Given the description of an element on the screen output the (x, y) to click on. 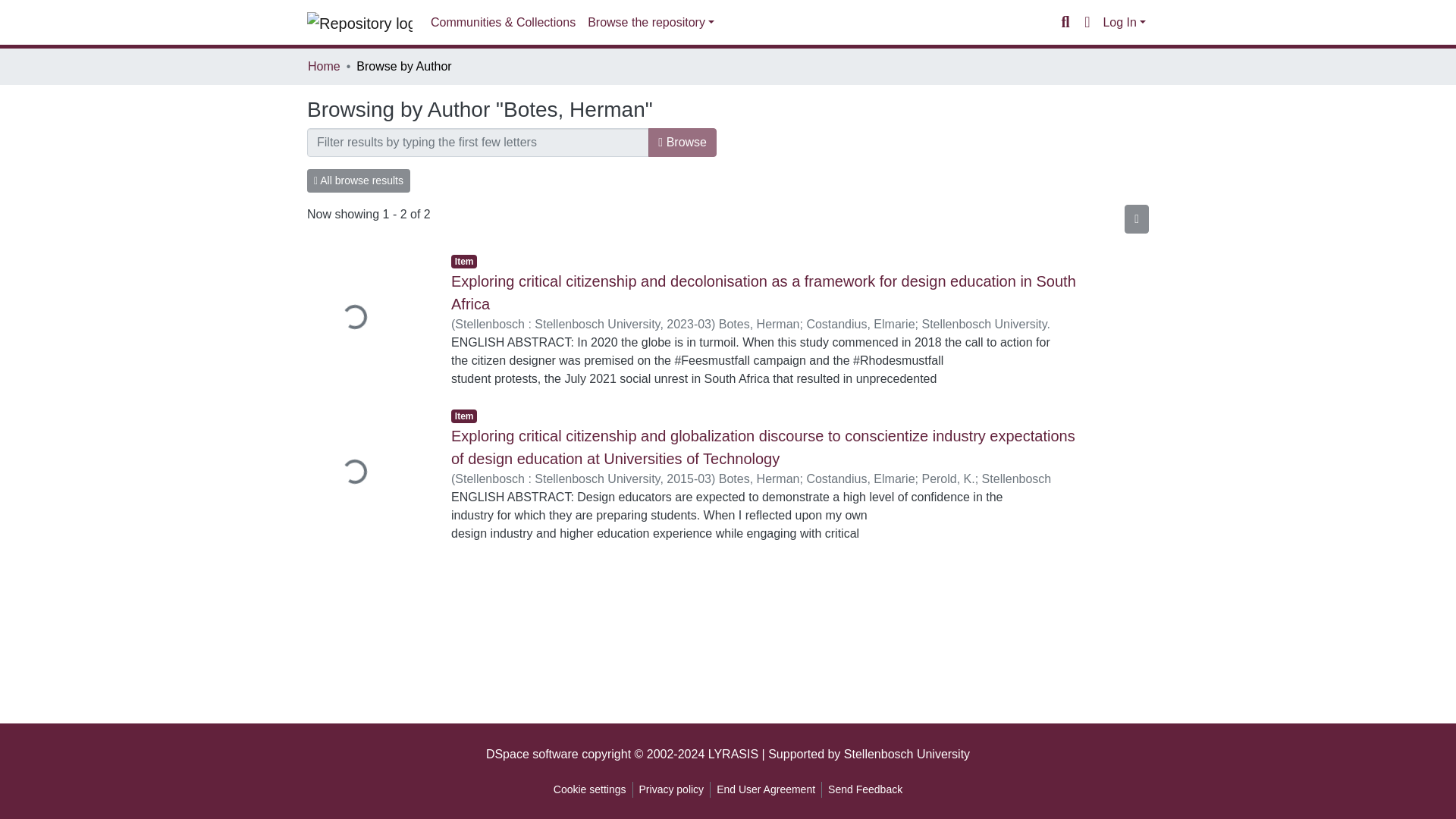
Browse the repository (650, 22)
Language switch (1086, 22)
Loading... (367, 473)
Browse (681, 142)
All browse results (358, 180)
Search (1064, 22)
Log In (1123, 21)
DSpace software (532, 753)
Home (323, 66)
